Given the description of an element on the screen output the (x, y) to click on. 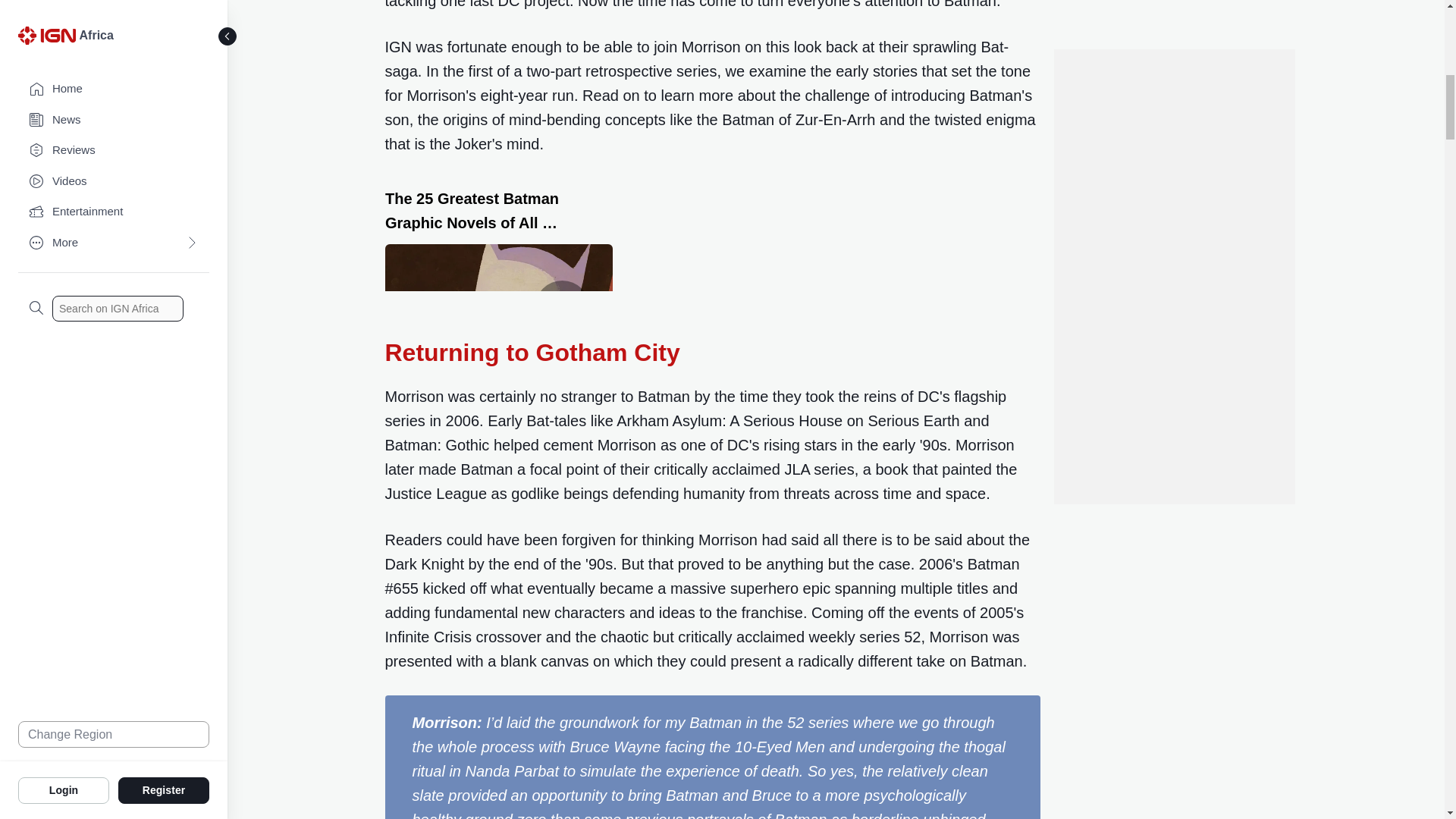
3rd party ad content (1173, 28)
